Given the description of an element on the screen output the (x, y) to click on. 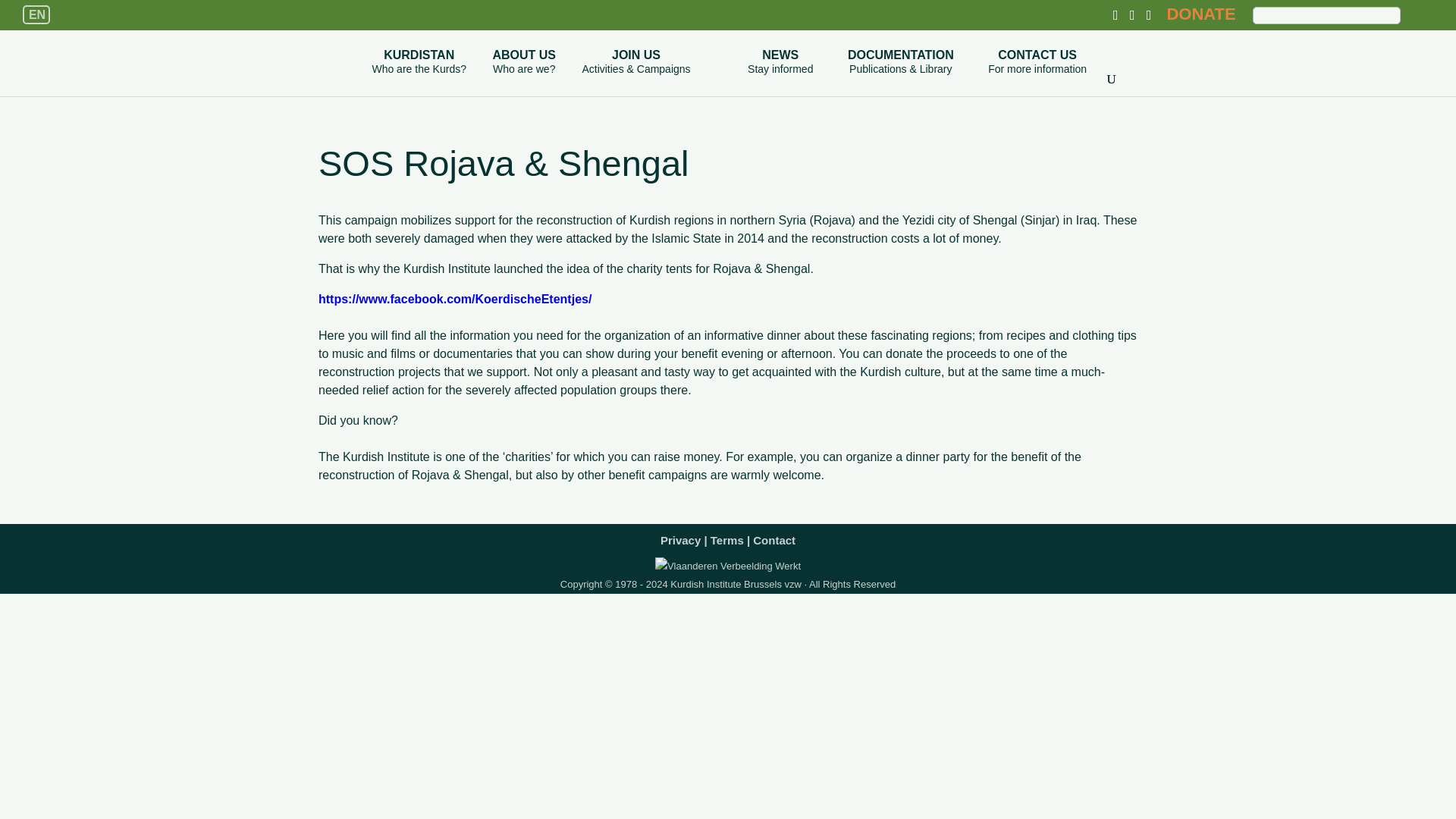
Search (1417, 14)
Terms (727, 536)
Search (1037, 72)
Contact (524, 72)
Privacy (1417, 14)
DONATE (773, 536)
